Given the description of an element on the screen output the (x, y) to click on. 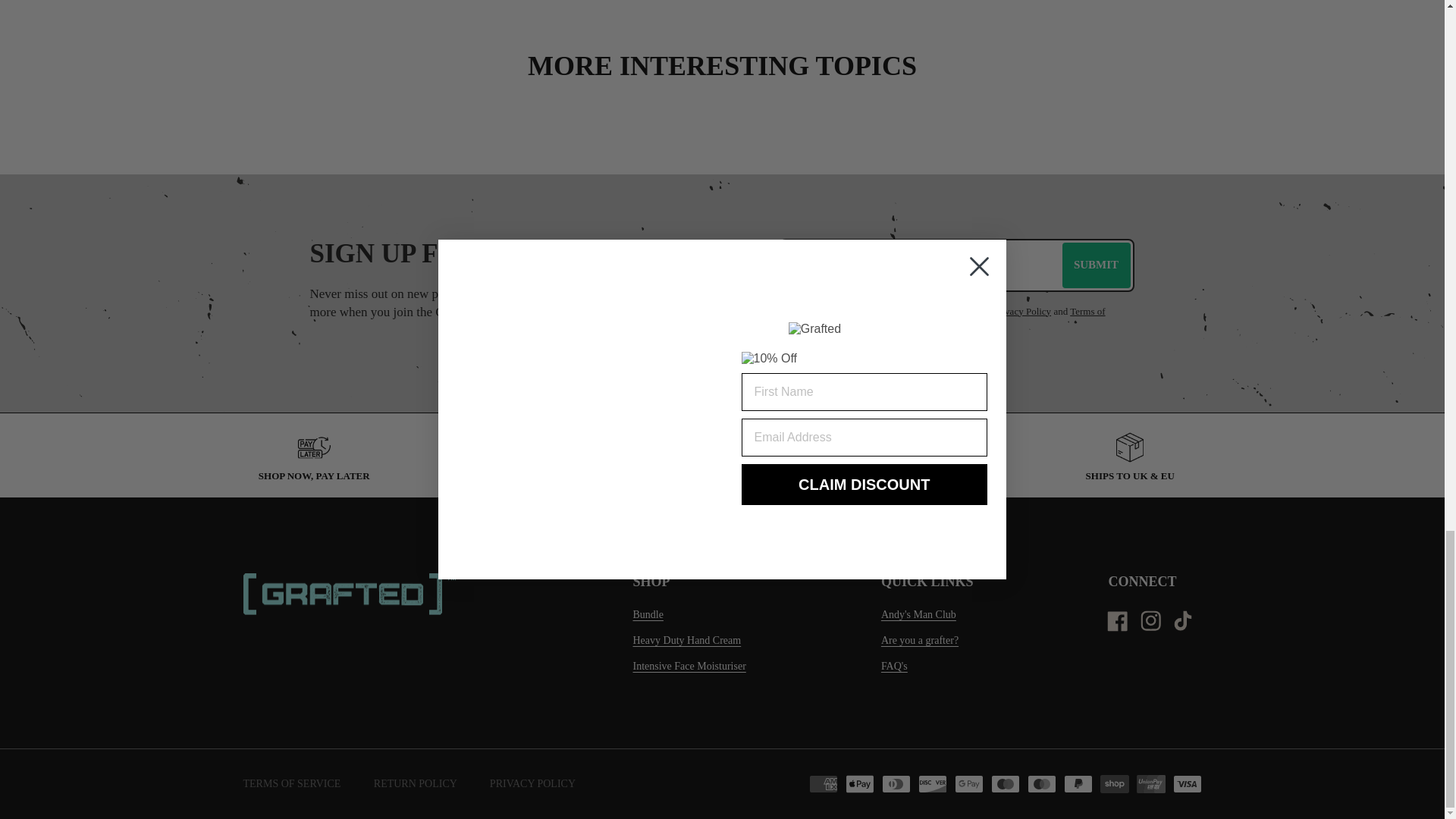
Terms of Service (941, 319)
Facebook (1117, 621)
TikTok (1184, 621)
Andy's Man Club (918, 614)
SUBMIT (1095, 265)
Heavy Duty Hand Cream (686, 640)
Bundle (646, 614)
Instagram (1150, 621)
Intensive Face Moisturiser (688, 666)
Are you a grafter? (919, 640)
Privacy Policy (1021, 310)
FAQ's (893, 666)
